Given the description of an element on the screen output the (x, y) to click on. 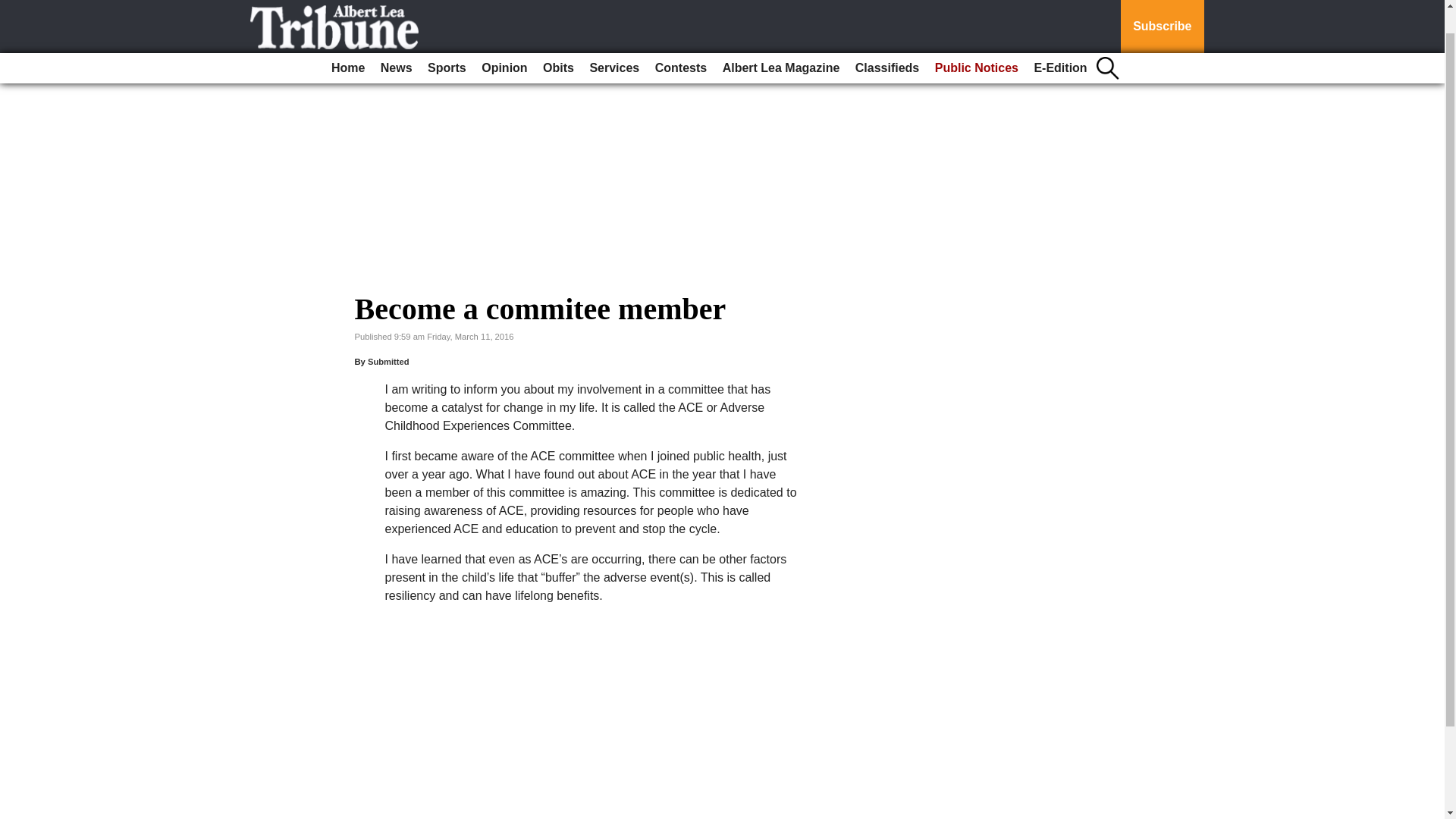
Sports (446, 41)
Services (614, 41)
Home (347, 41)
Subscribe (1162, 13)
Opinion (504, 41)
Obits (558, 41)
News (396, 41)
